Given the description of an element on the screen output the (x, y) to click on. 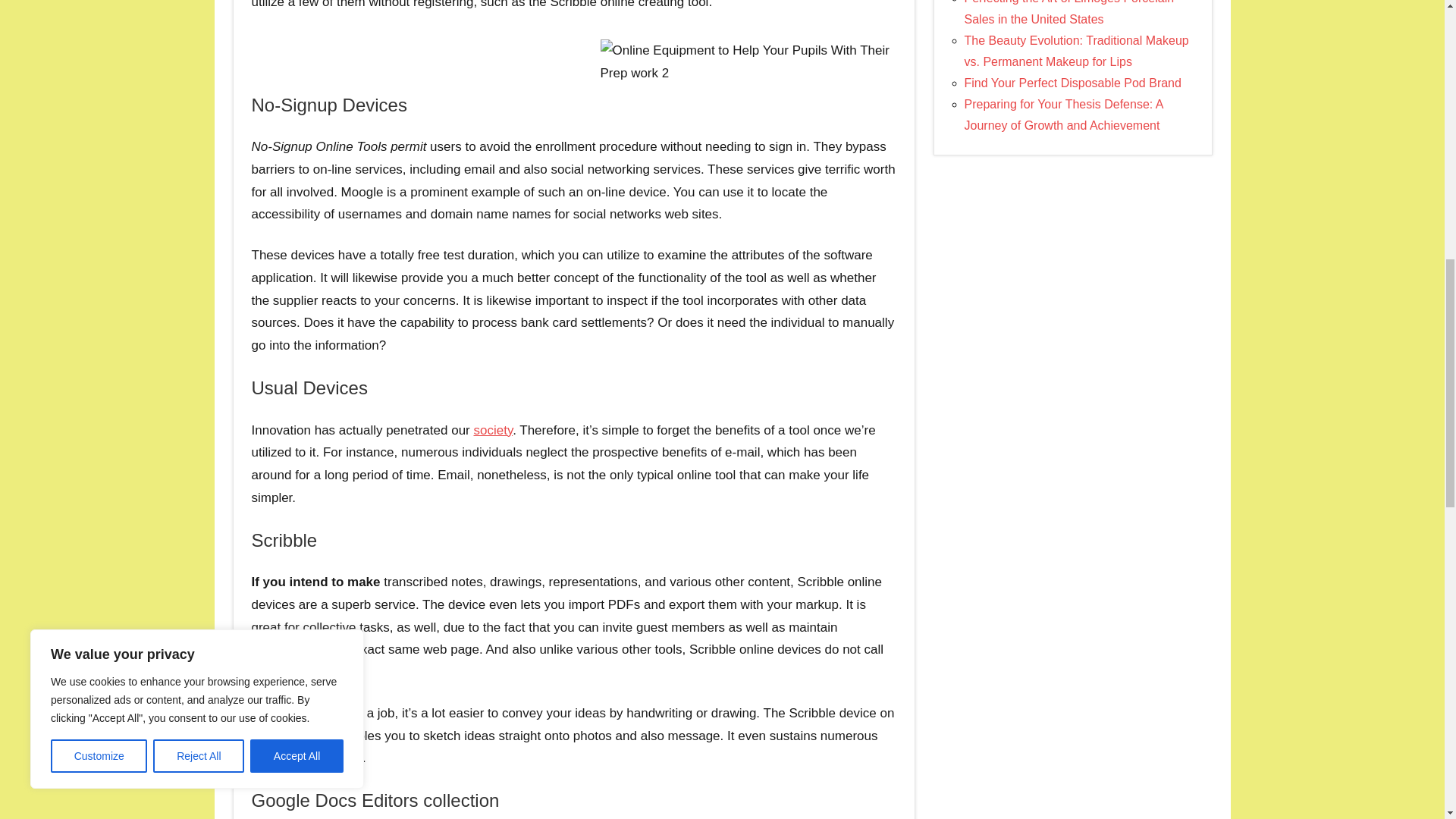
society (492, 430)
